Given the description of an element on the screen output the (x, y) to click on. 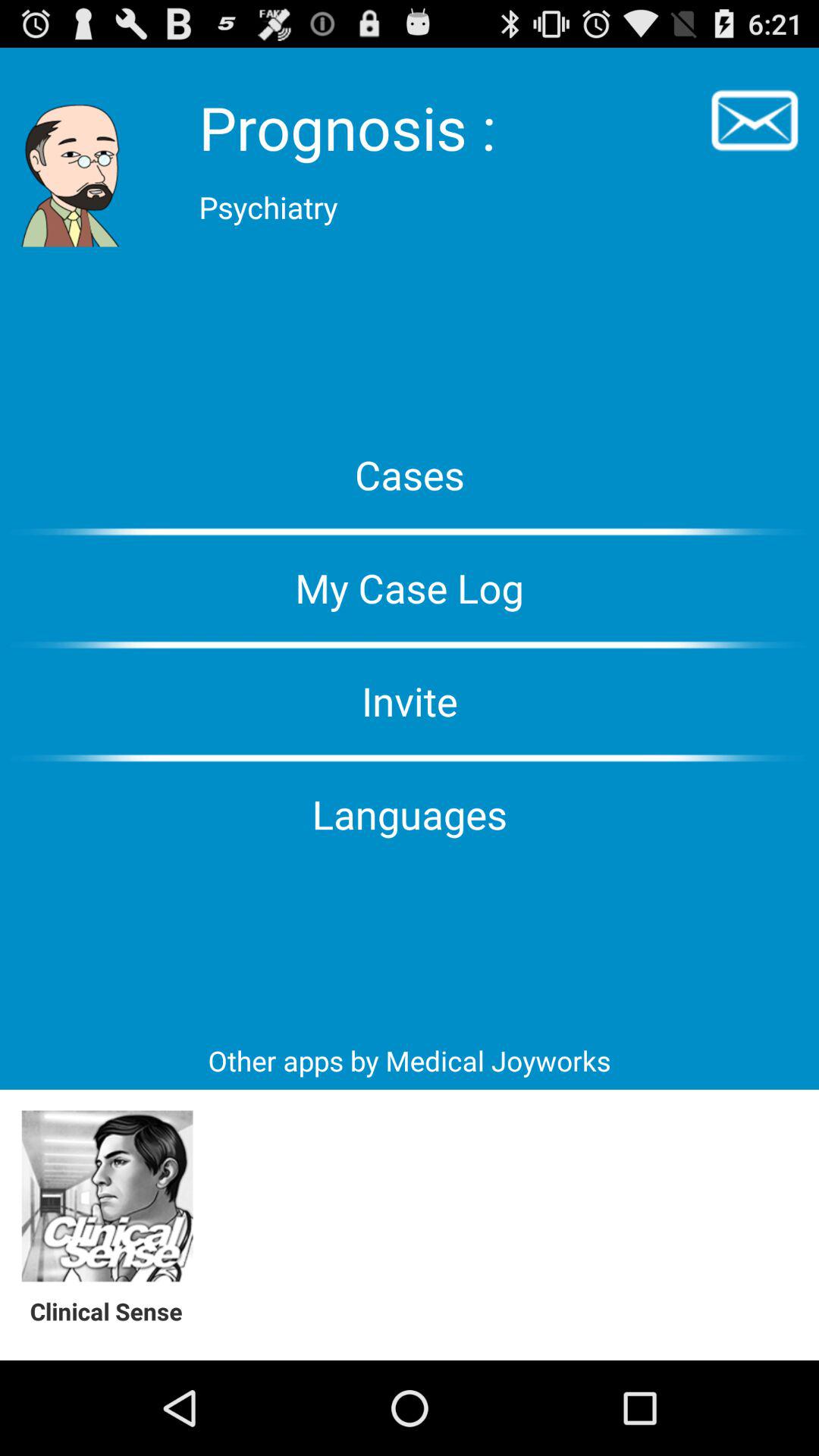
clinical sense (107, 1196)
